Given the description of an element on the screen output the (x, y) to click on. 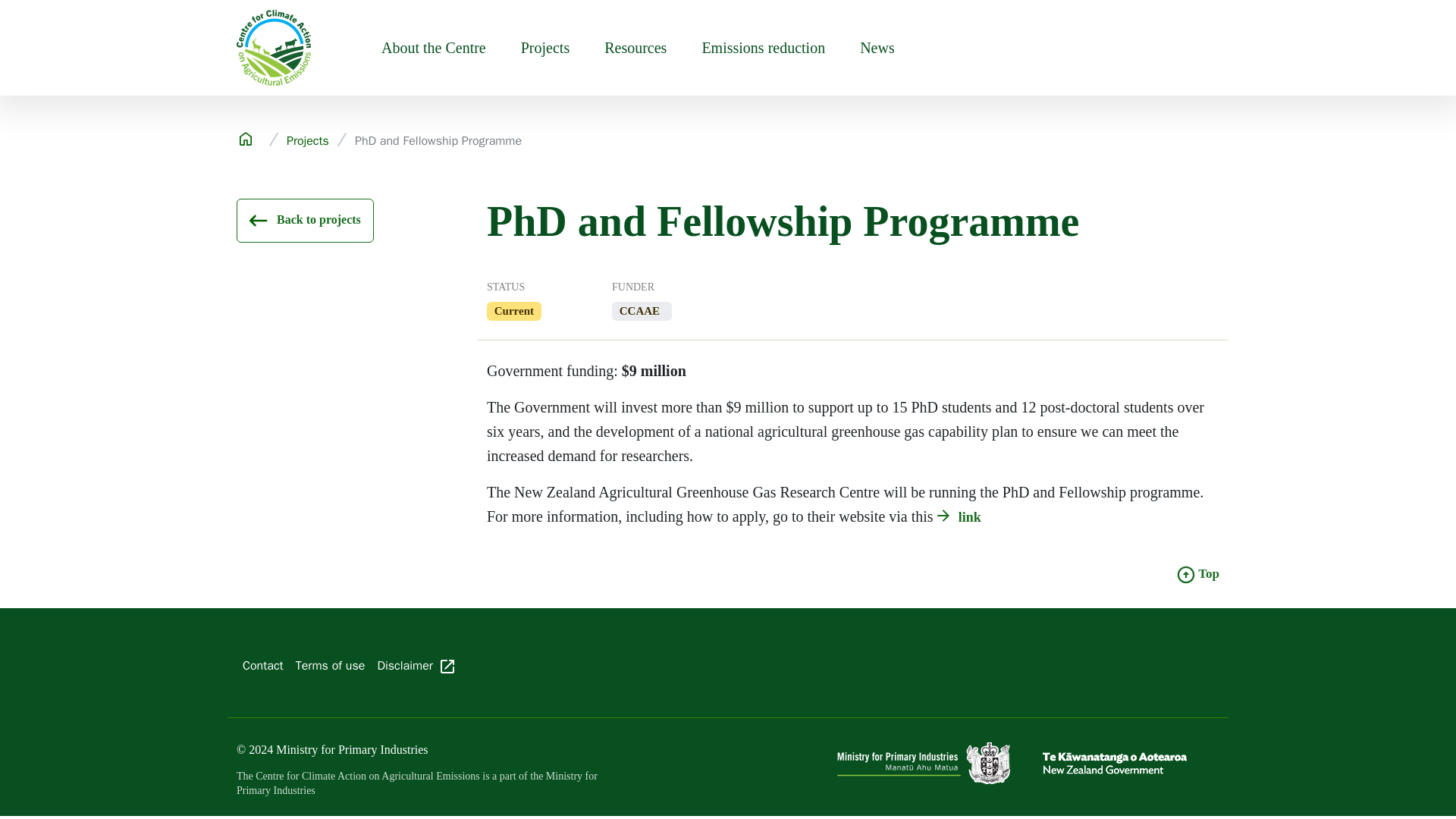
About the Centre (433, 47)
News (877, 47)
NZAGRC (961, 516)
Terms of use (330, 665)
Projects (307, 140)
Top (1198, 573)
link  (961, 516)
Emissions reduction (763, 47)
Contact (262, 665)
Disclaimer (419, 665)
Projects (545, 47)
Resources (635, 47)
Back to projects (304, 220)
